Given the description of an element on the screen output the (x, y) to click on. 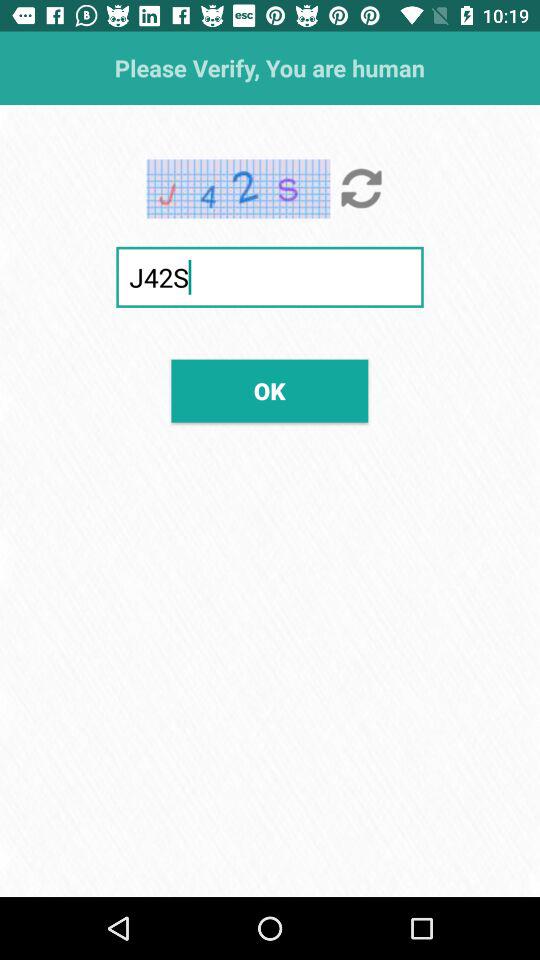
launch icon above the j42s icon (361, 188)
